Given the description of an element on the screen output the (x, y) to click on. 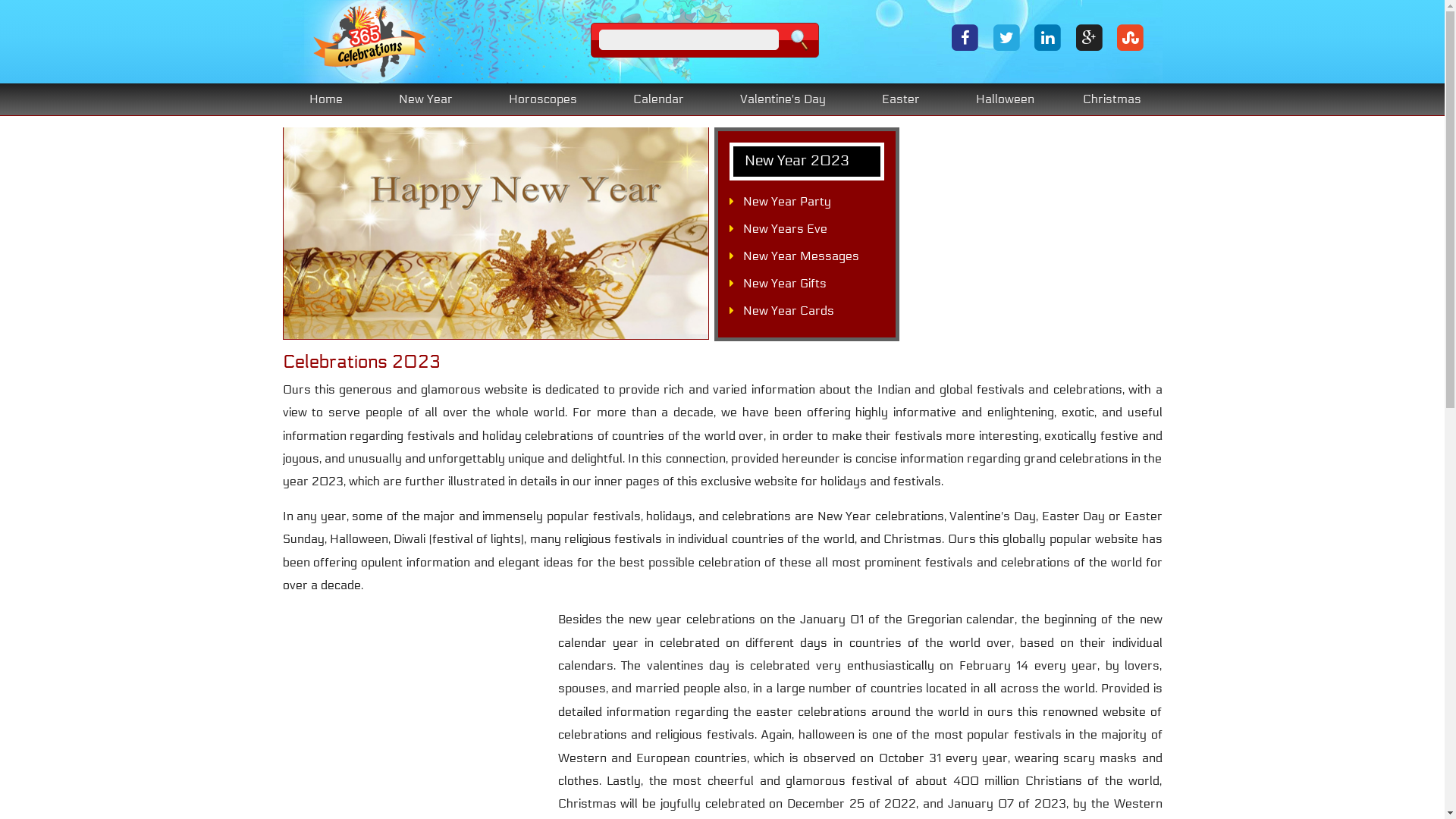
Calendar Element type: text (657, 99)
Easter Element type: text (900, 99)
Halloween Element type: text (1004, 99)
New Year Party Element type: text (787, 201)
New Year Element type: text (425, 99)
Home Element type: text (325, 99)
Valentine's Day Element type: text (782, 99)
New Year Cards Element type: text (788, 310)
Christmas Element type: text (1111, 99)
New Year Gifts Element type: text (784, 283)
Horoscopes Element type: text (541, 99)
New Year Messages Element type: text (801, 255)
Advertisement Element type: hover (1030, 233)
New Years Eve Element type: text (785, 228)
New Year 2023 Element type: text (796, 160)
